Given the description of an element on the screen output the (x, y) to click on. 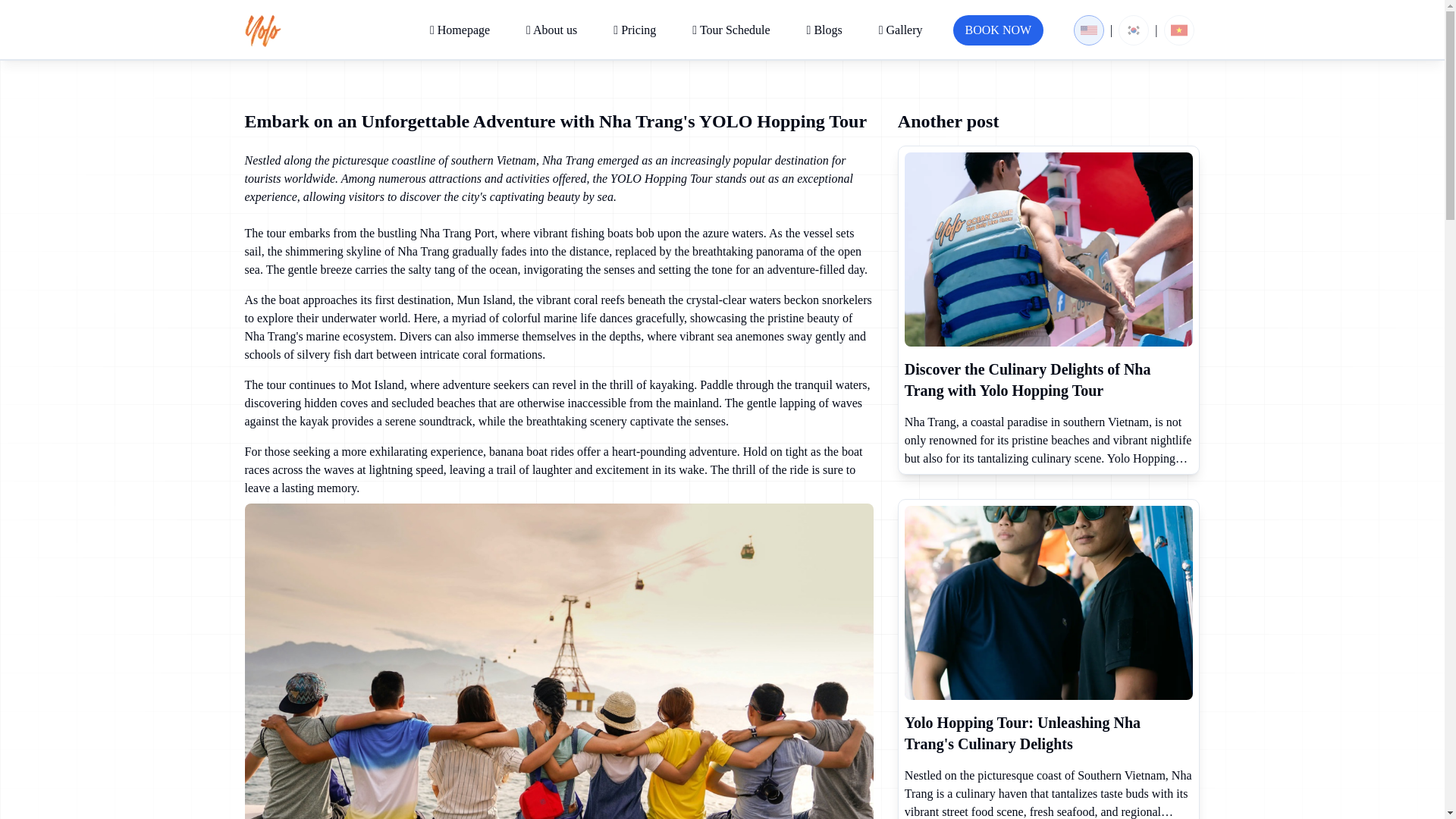
BOOK NOW (998, 30)
